Given the description of an element on the screen output the (x, y) to click on. 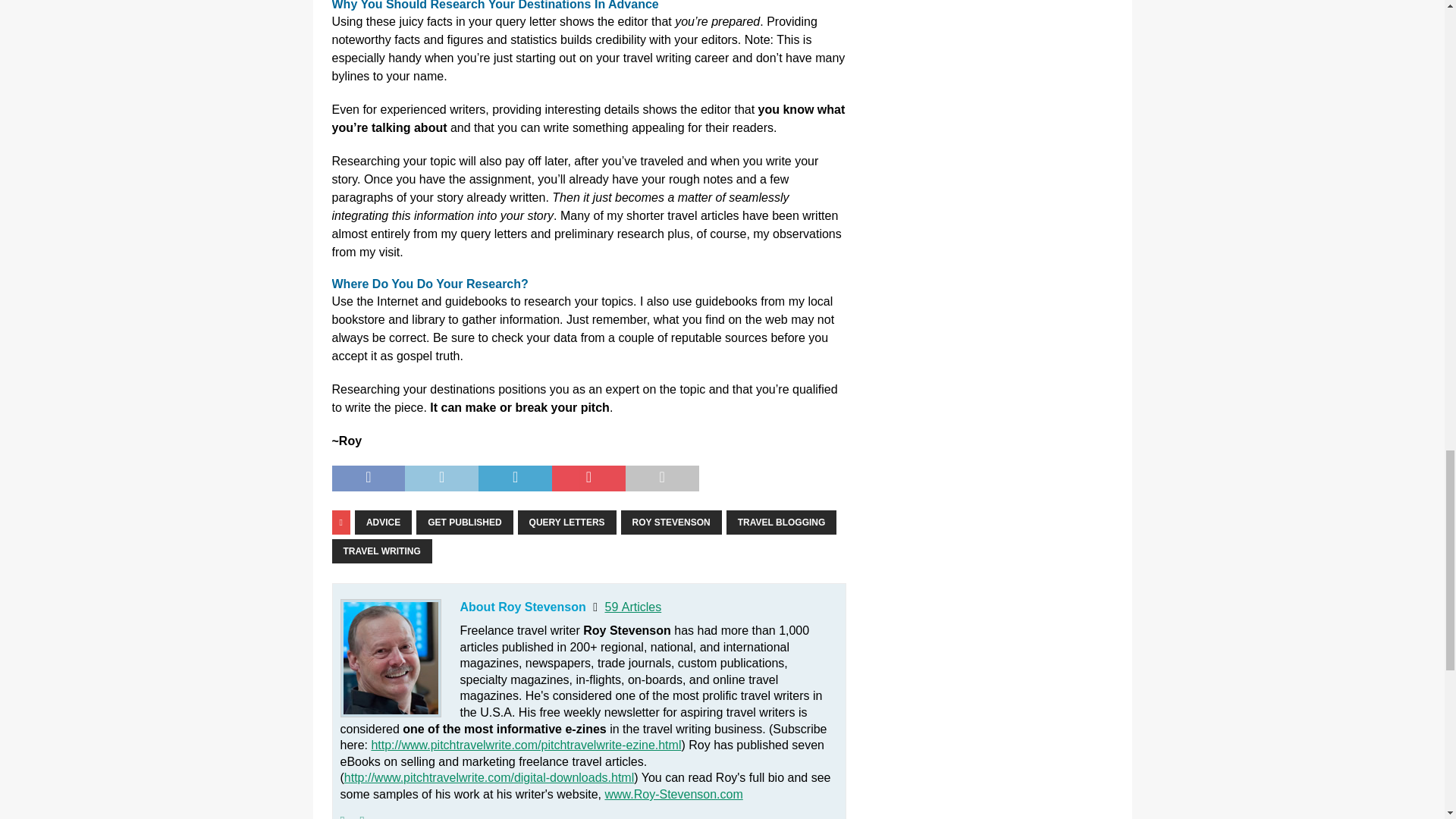
ADVICE (383, 522)
Follow Roy Stevenson on Facebook (357, 816)
59 Articles (632, 606)
www.Roy-Stevenson.com (673, 793)
TRAVEL WRITING (381, 550)
TRAVEL BLOGGING (781, 522)
More articles written by Roy Stevenson' (632, 606)
GET PUBLISHED (464, 522)
ROY STEVENSON (671, 522)
